Given the description of an element on the screen output the (x, y) to click on. 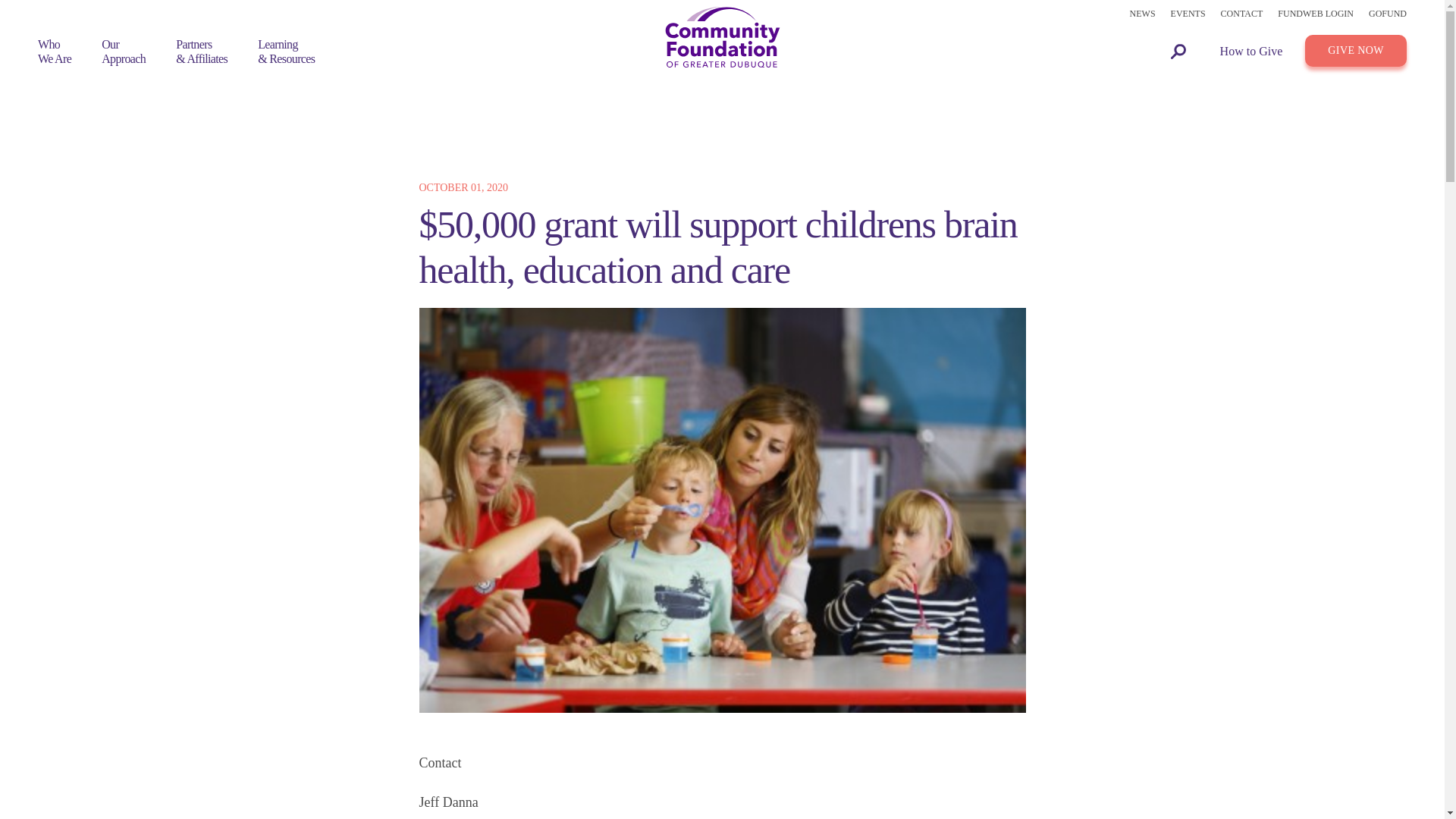
GOFUND (54, 51)
FUNDWEB LOGIN (1387, 13)
CONTACT (123, 51)
EVENTS (1316, 13)
NEWS (1242, 13)
